Given the description of an element on the screen output the (x, y) to click on. 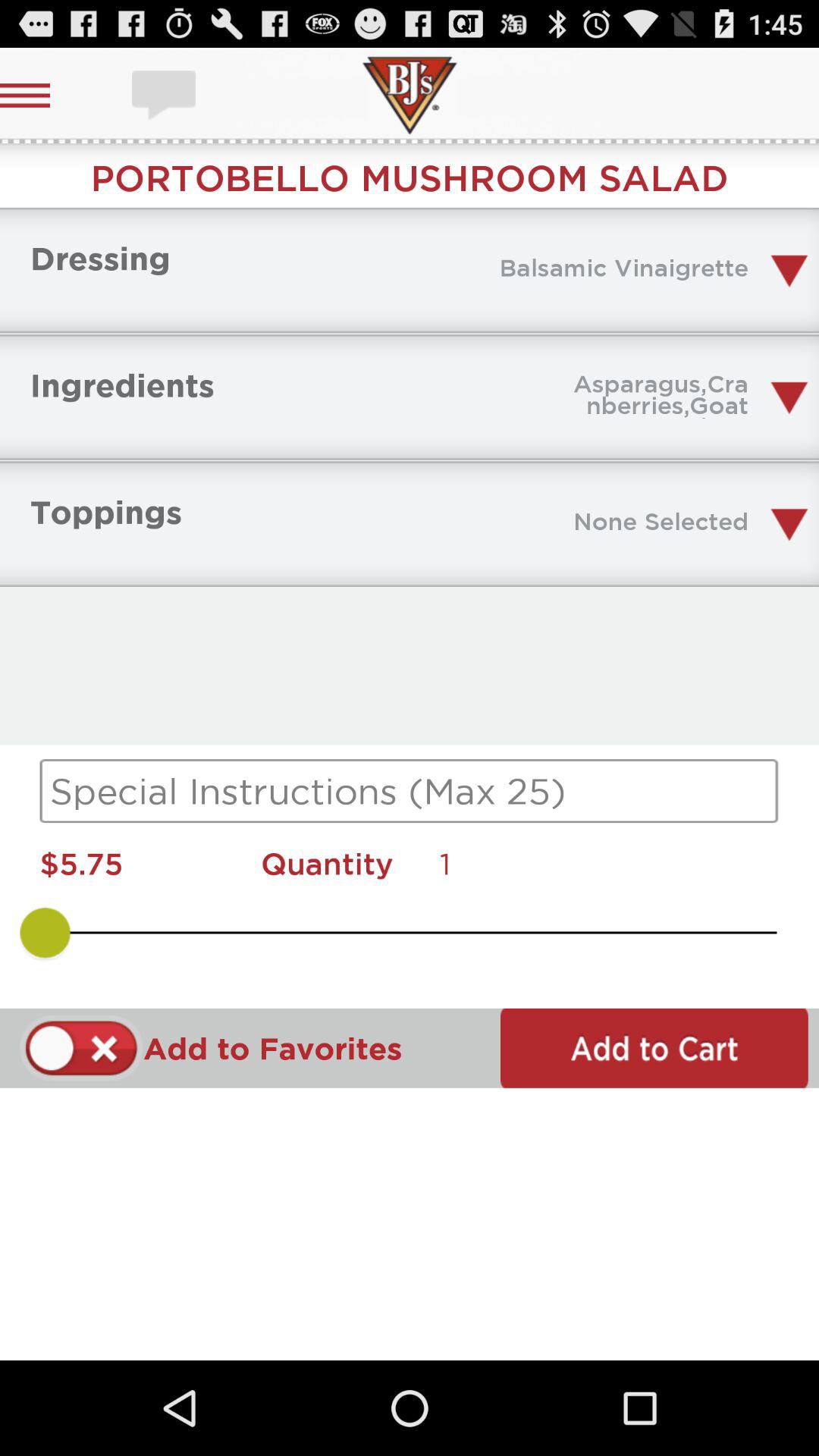
send message (165, 95)
